Given the description of an element on the screen output the (x, y) to click on. 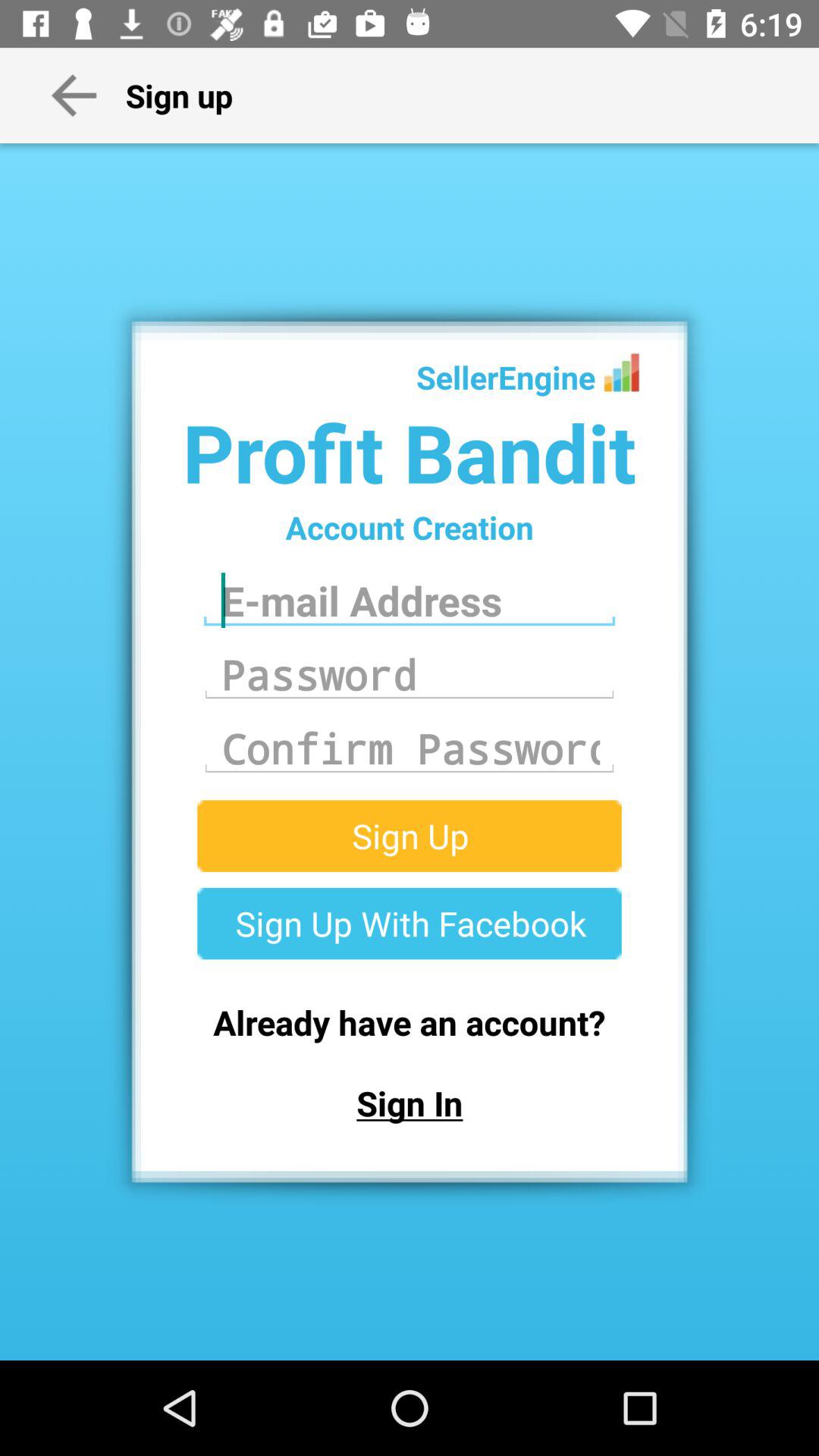
password entry (409, 674)
